Given the description of an element on the screen output the (x, y) to click on. 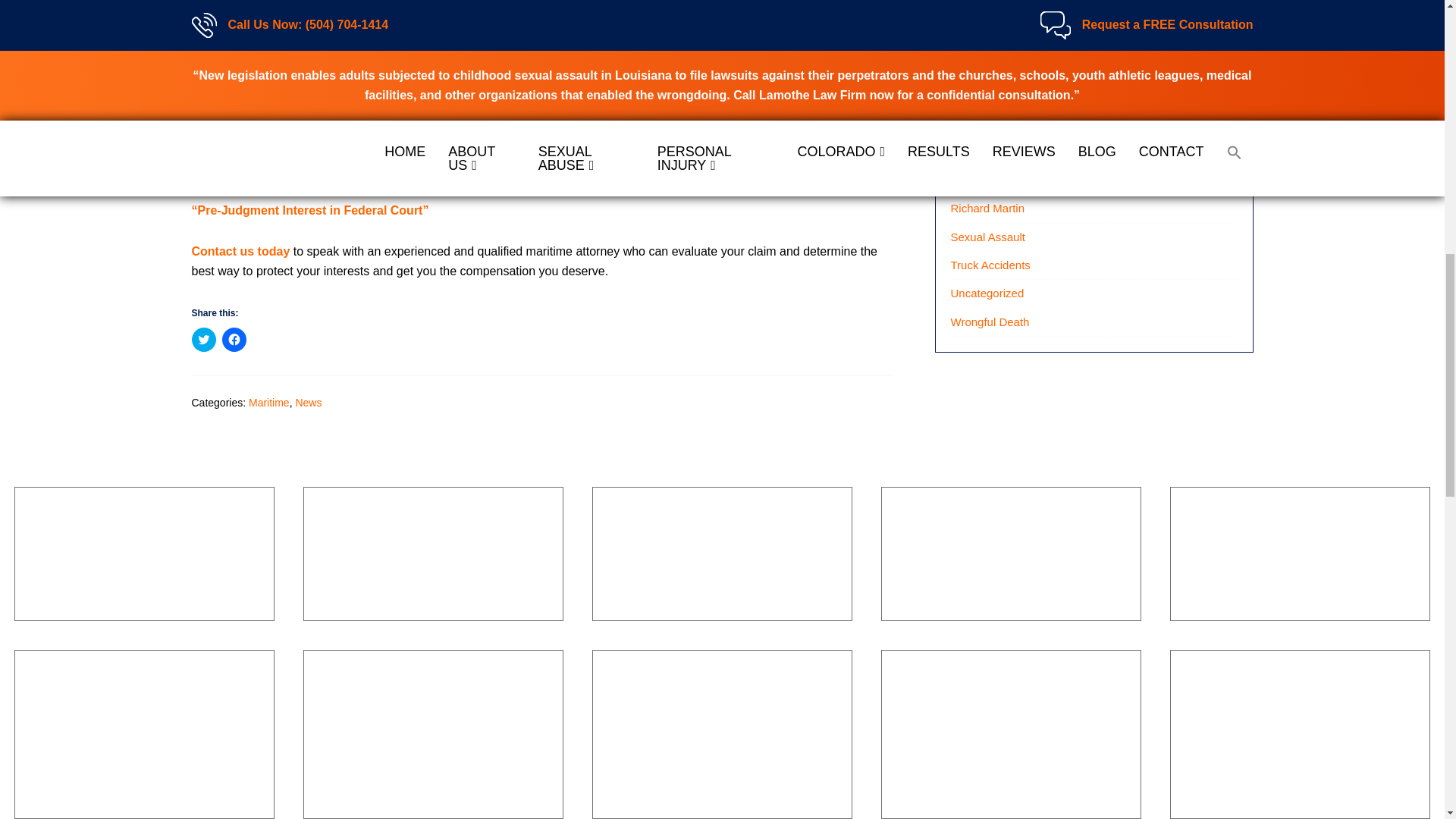
Click to share on Facebook (233, 339)
Click to share on Twitter (202, 339)
